Given the description of an element on the screen output the (x, y) to click on. 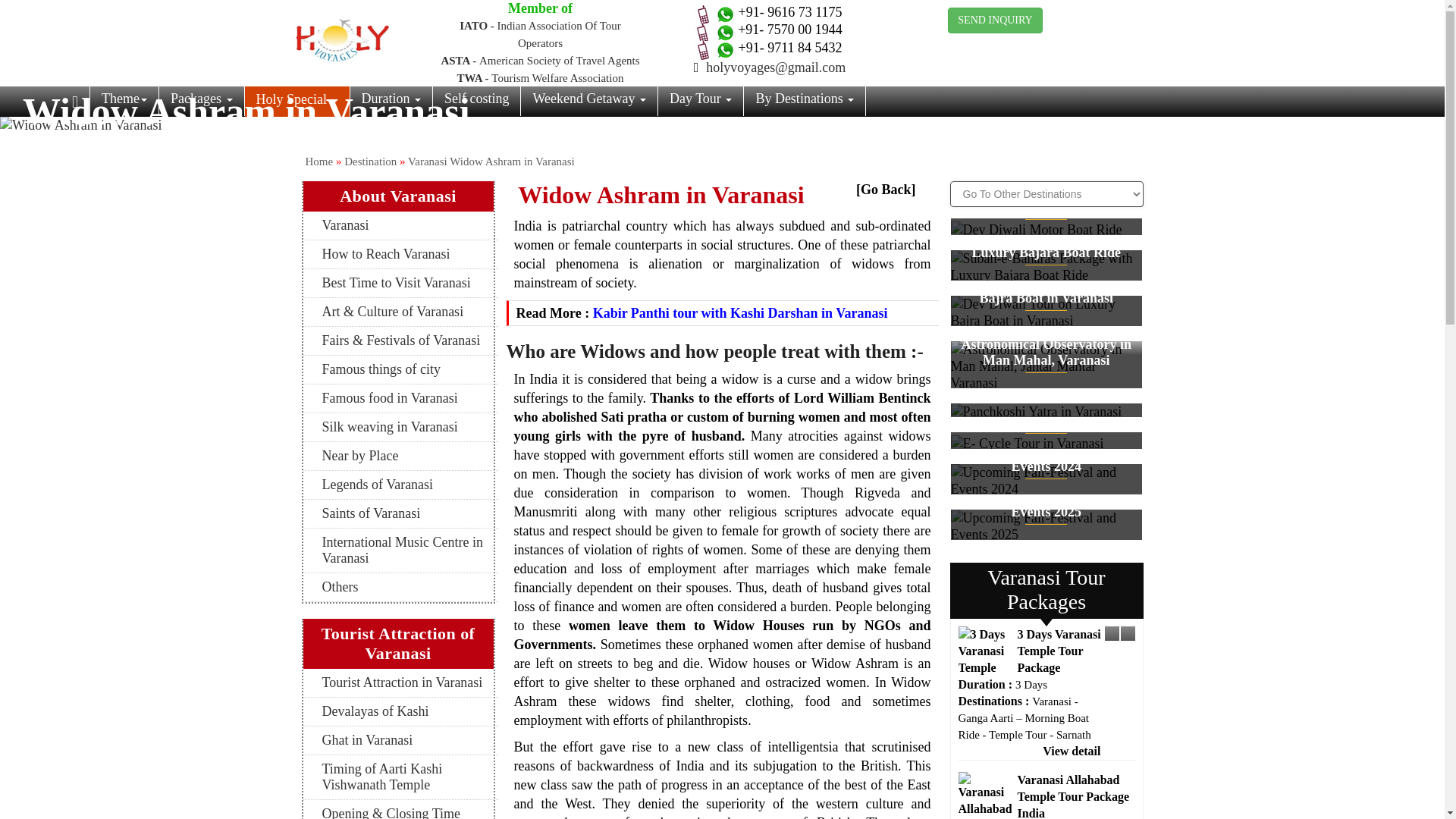
Dev Diwali Motor Boat Ride (1036, 229)
 Widow Ashram in Varanasi (722, 125)
Dev Diwali Tour on Luxury Bajra Boat in Varanasi (1046, 312)
Packages (200, 100)
SEND INQUIRY (994, 20)
Upcoming Fair-Festival and Events 2024 (1046, 480)
Varanasi Allahabad Temple Tour Package India (984, 795)
Upcoming Fair-Festival and Events 2025 (1046, 525)
Subah-e-Banaras Package with Luxury Bajara Boat Ride (1046, 266)
Panchkoshi Yatra in Varanasi (1046, 411)
